Given the description of an element on the screen output the (x, y) to click on. 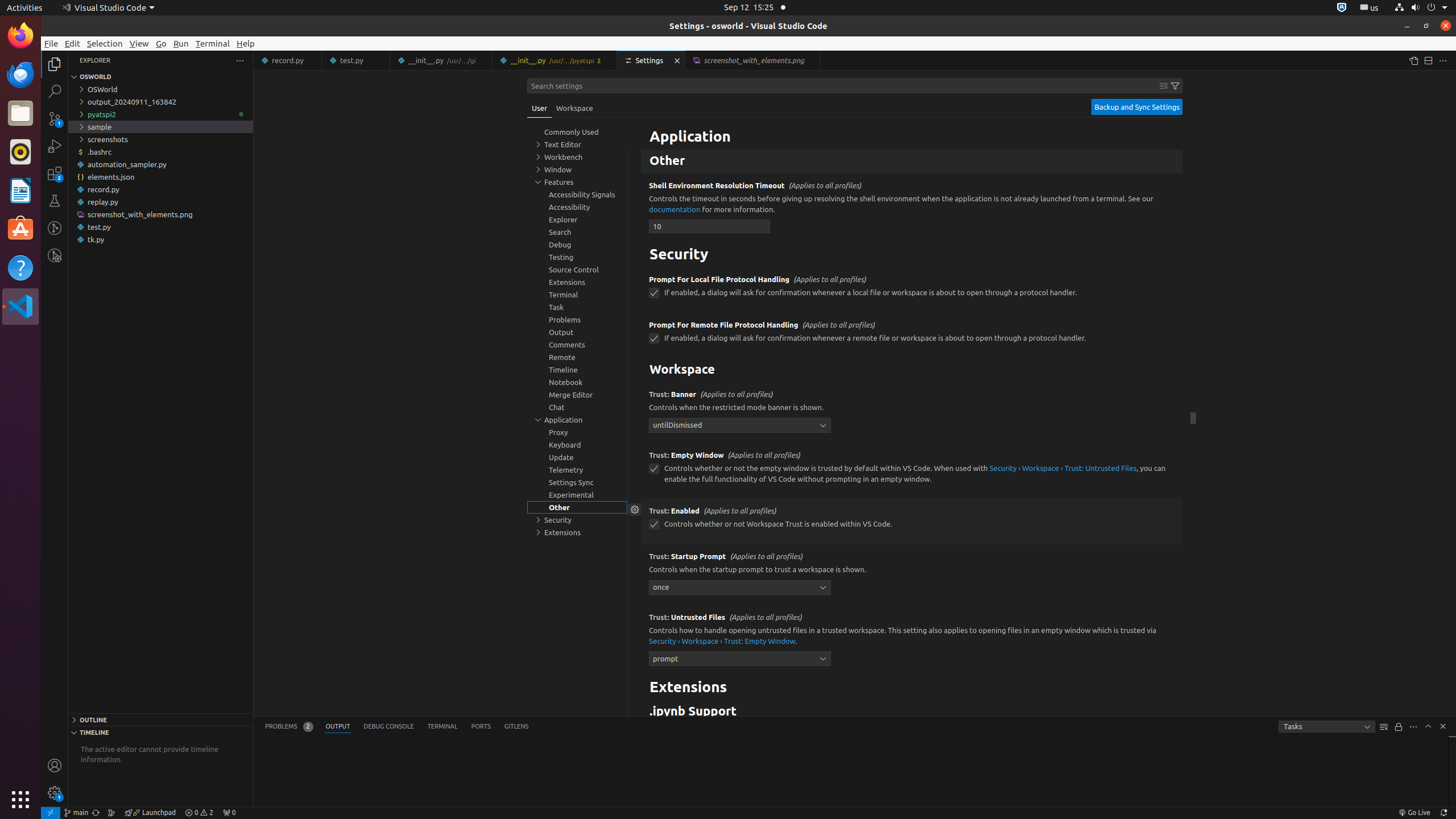
broadcast Go Live, Click to run live server Element type: push-button (1414, 812)
test.py Element type: page-tab (355, 60)
Workbench, group Element type: tree-item (577, 156)
